Given the description of an element on the screen output the (x, y) to click on. 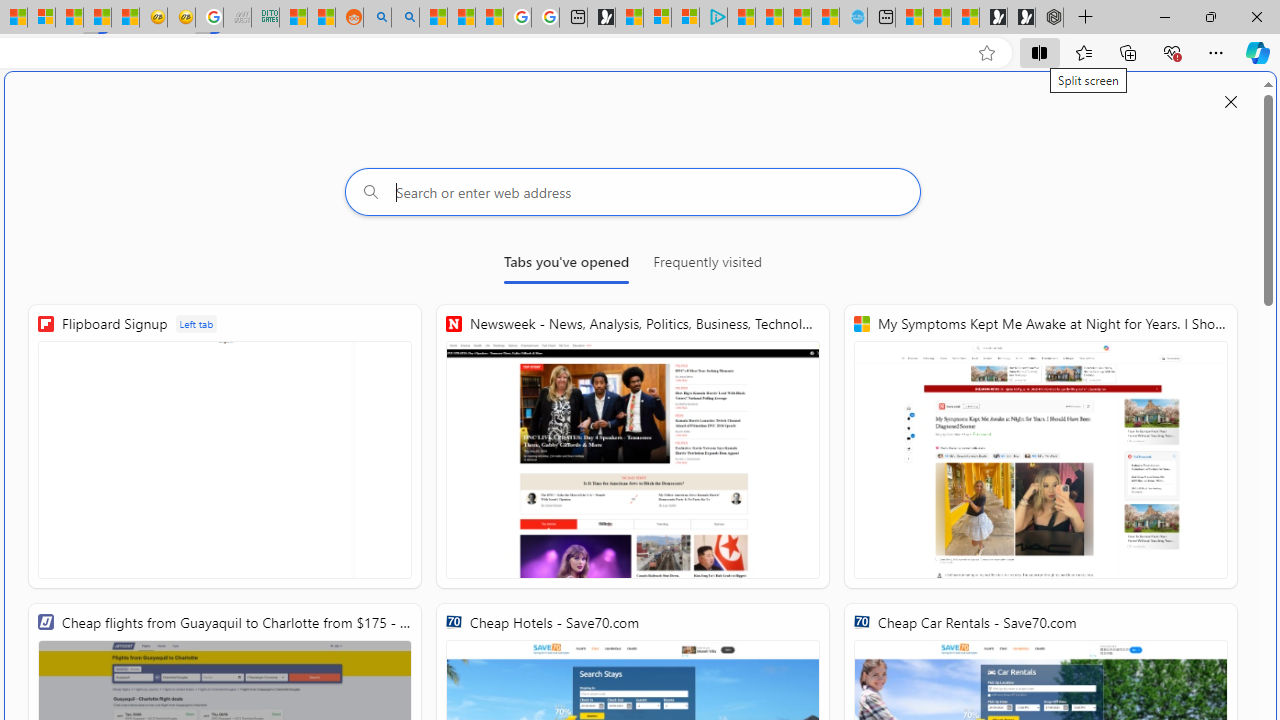
Navy Quest (237, 17)
MSN (97, 17)
Search or enter web address (633, 191)
DITOGAMES AG Imprint (265, 17)
